Given the description of an element on the screen output the (x, y) to click on. 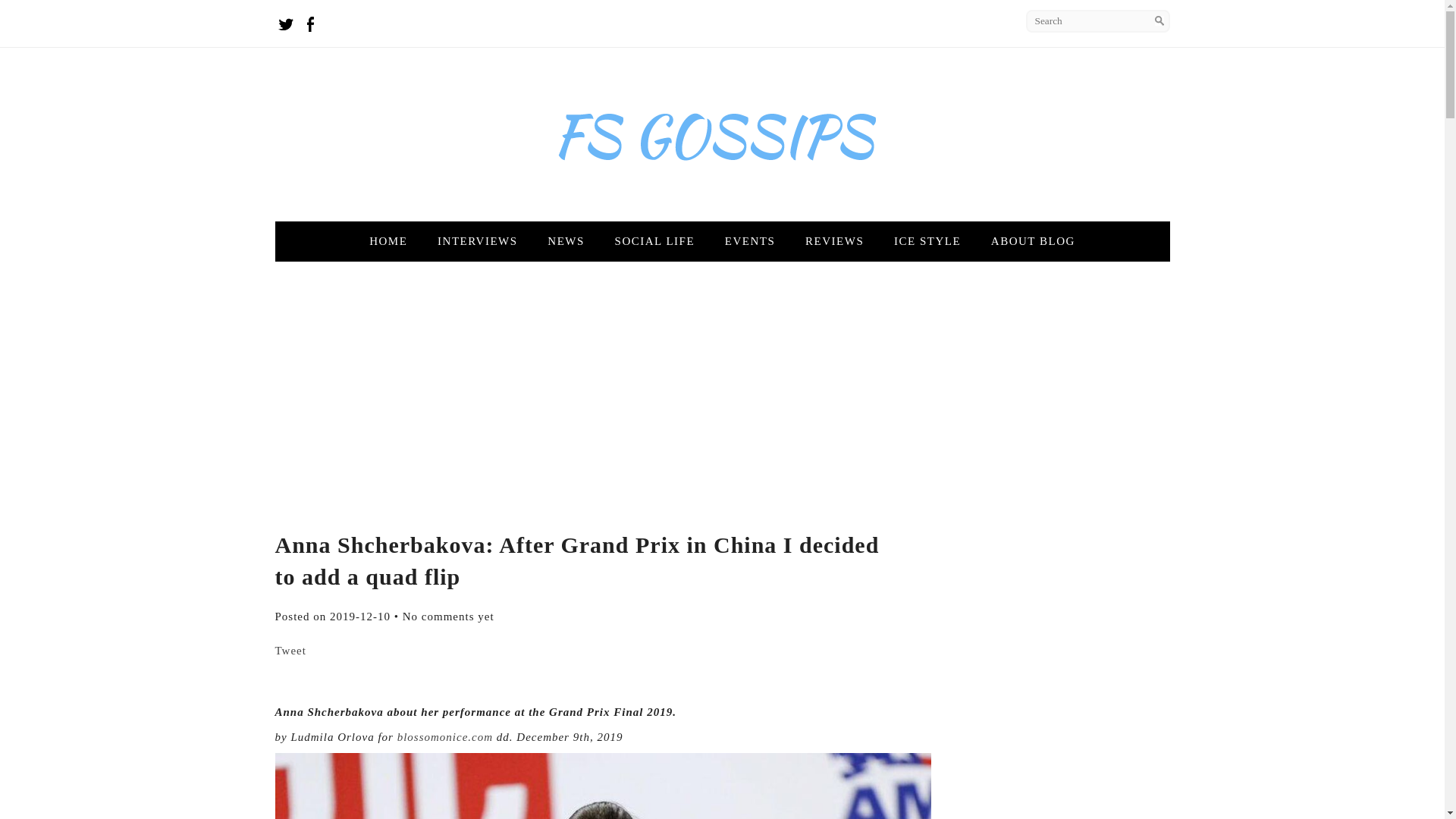
HOME (388, 241)
SOCIAL LIFE (655, 241)
Tweet (290, 650)
REVIEWS (834, 241)
blossomonice.com (445, 736)
INTERVIEWS (477, 241)
NEWS (565, 241)
ICE STYLE (927, 241)
ABOUT BLOG (1032, 241)
